Given the description of an element on the screen output the (x, y) to click on. 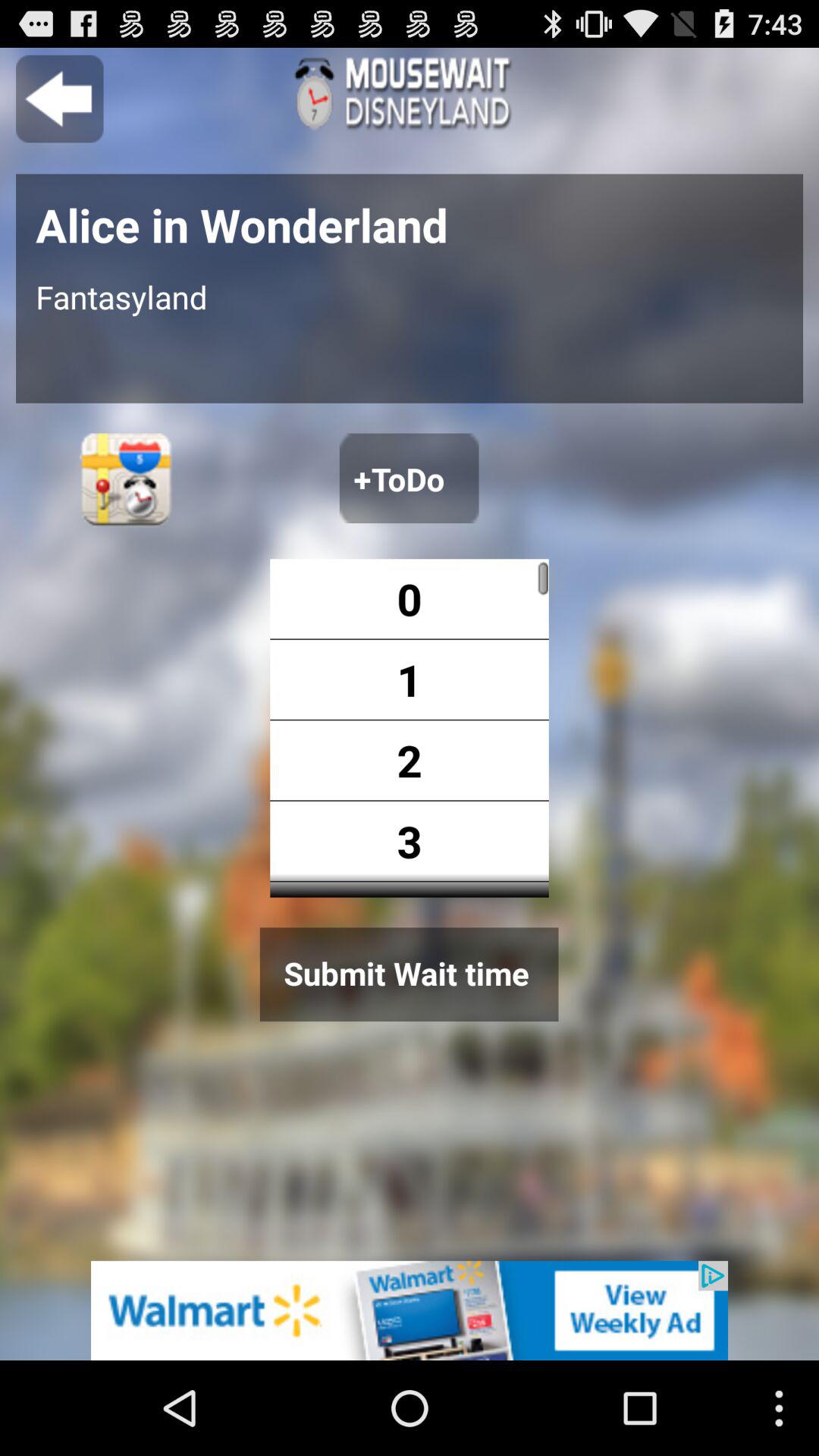
select the +todo option (408, 478)
